Given the description of an element on the screen output the (x, y) to click on. 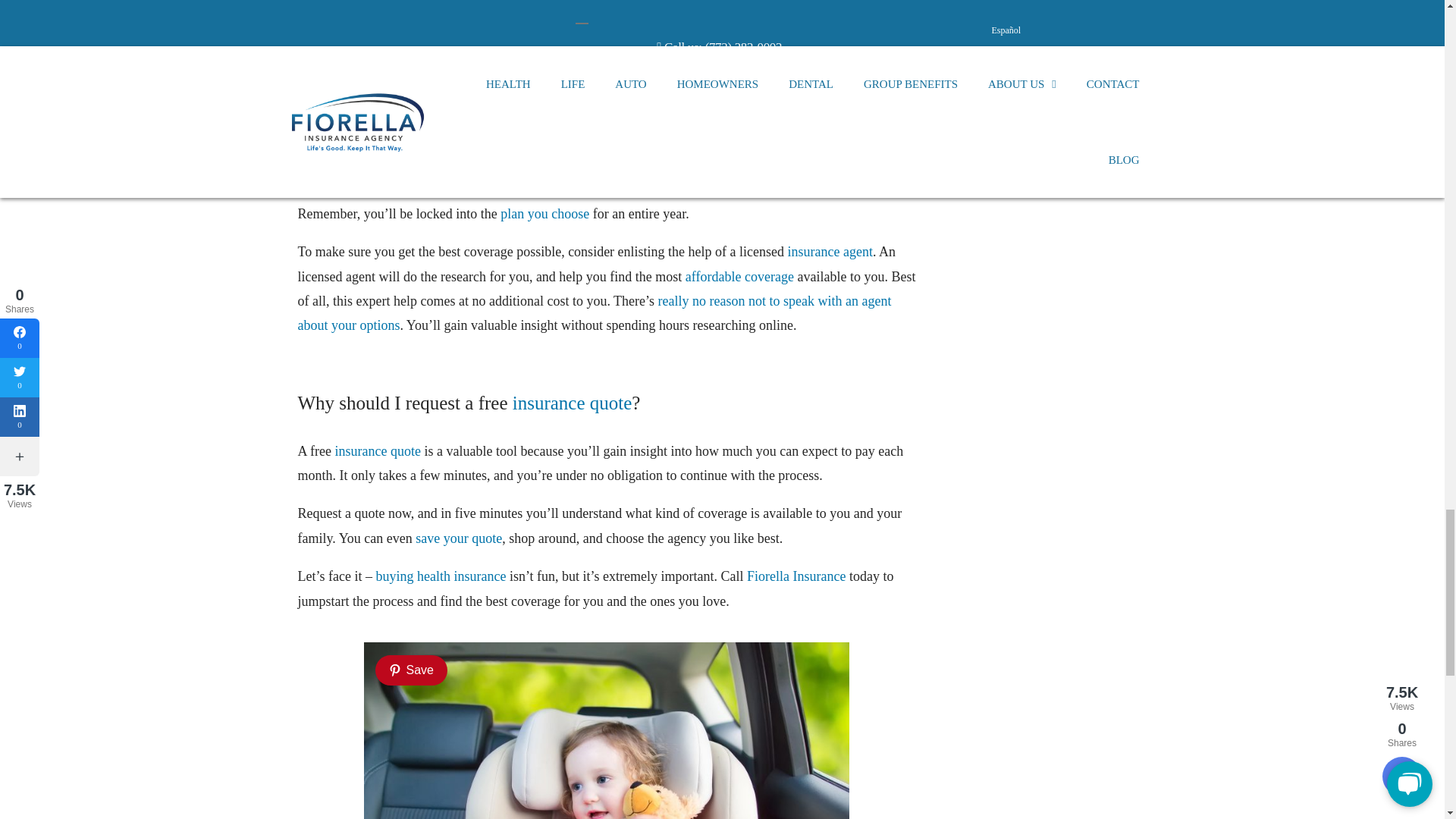
insurance (611, 164)
Fiorella Insurance (795, 575)
